Given the description of an element on the screen output the (x, y) to click on. 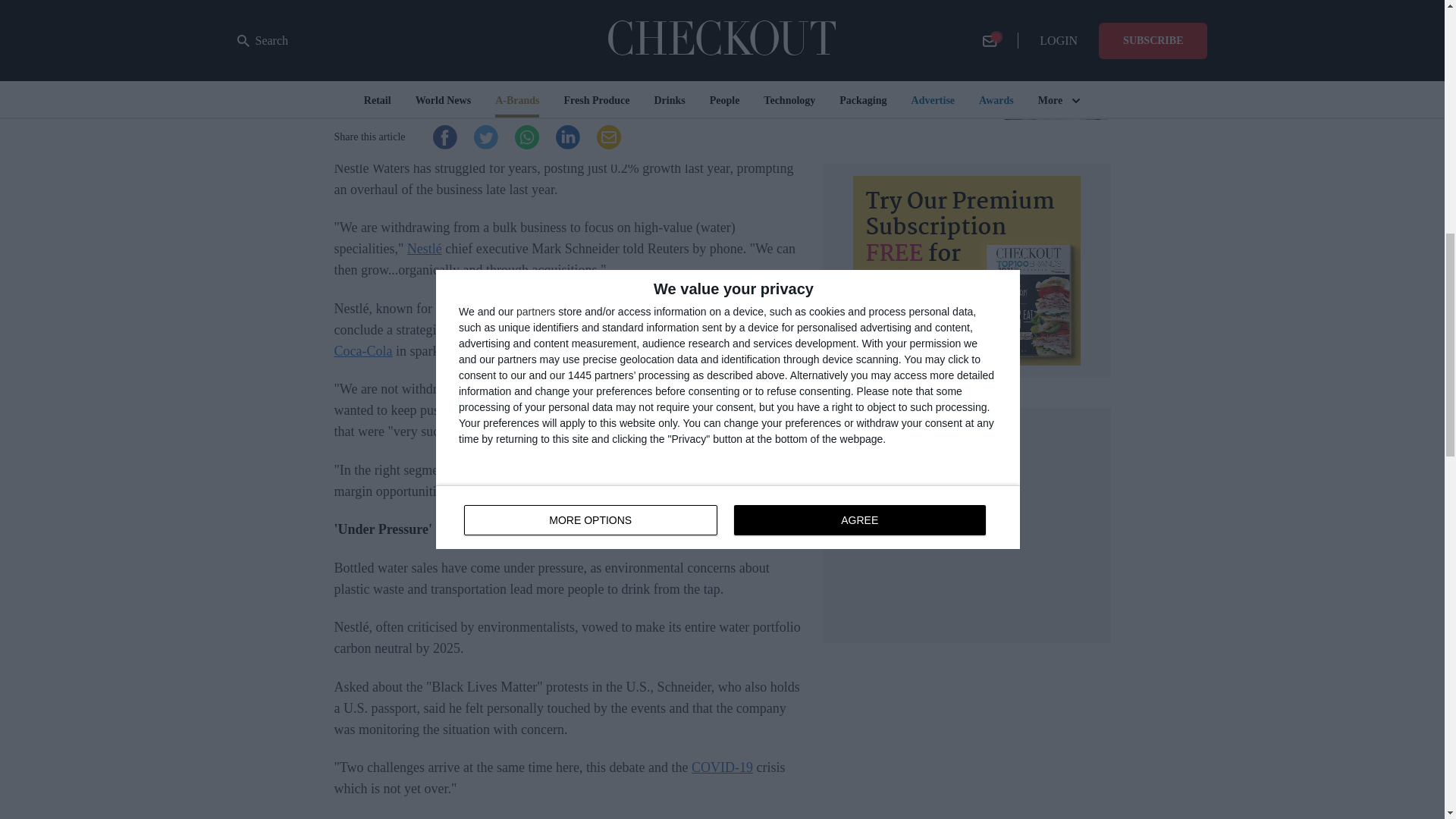
COVID-19 (721, 767)
Coca-Cola (362, 350)
